Given the description of an element on the screen output the (x, y) to click on. 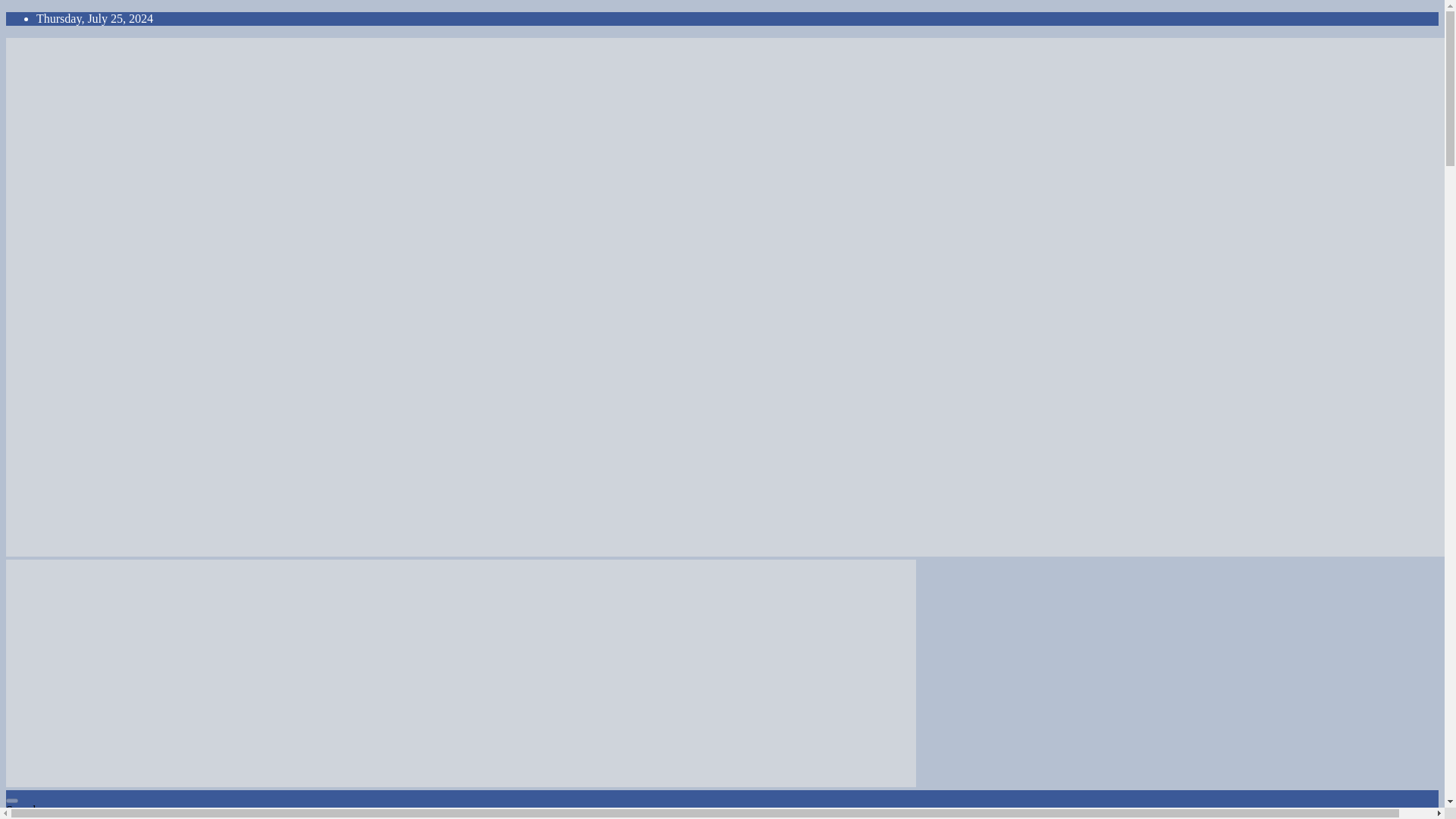
Valencia Property (76, 584)
